Given the description of an element on the screen output the (x, y) to click on. 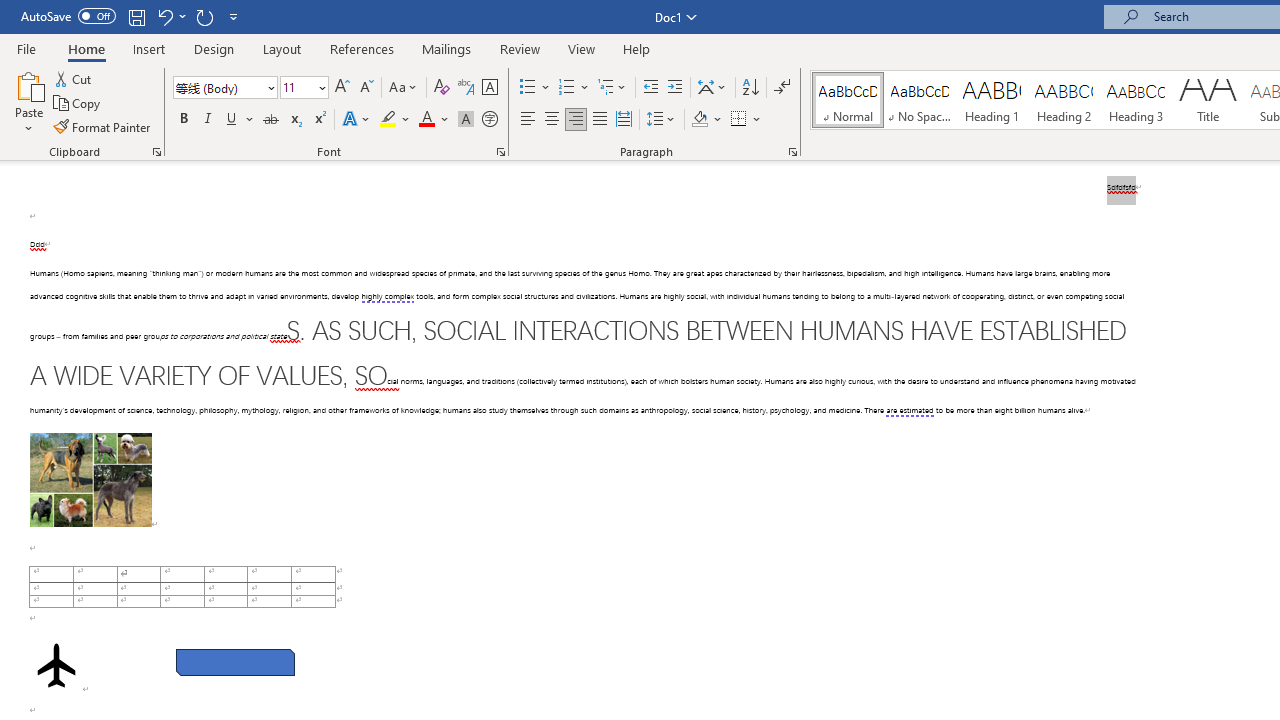
Heading 3 (1135, 100)
